Given the description of an element on the screen output the (x, y) to click on. 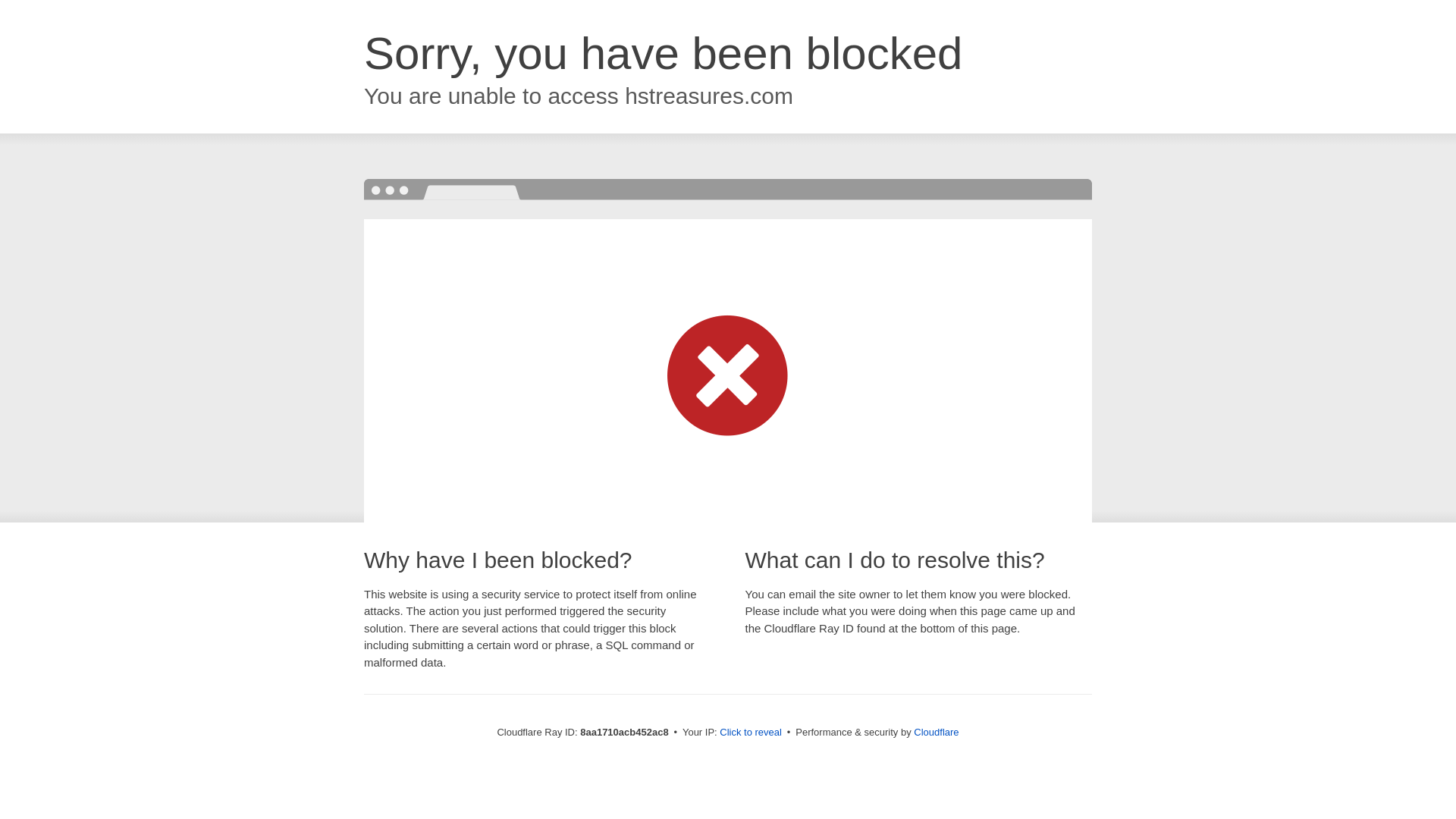
Click to reveal (750, 732)
Cloudflare (936, 731)
